Given the description of an element on the screen output the (x, y) to click on. 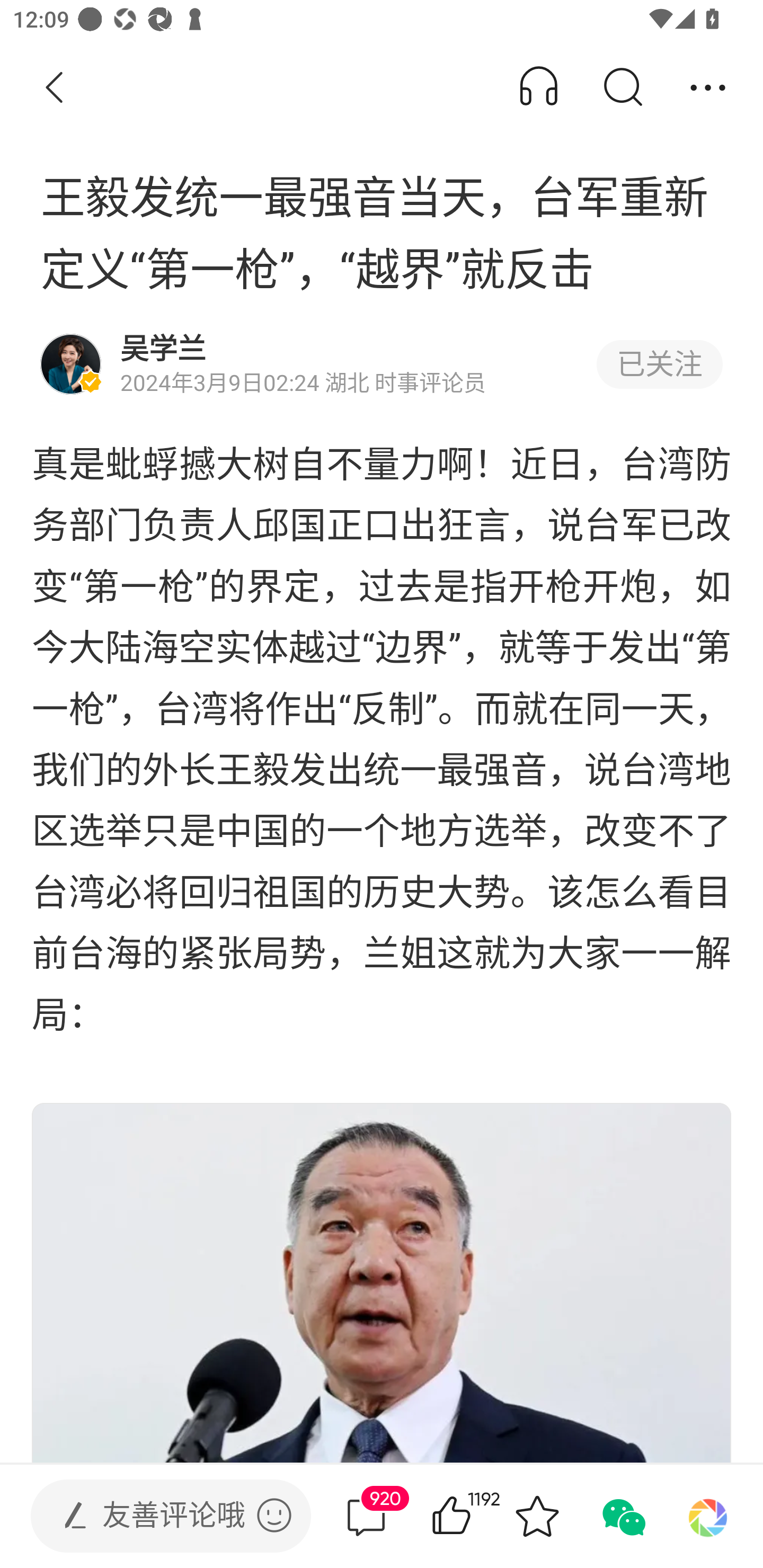
搜索  (622, 87)
分享  (707, 87)
 返回 (54, 87)
吴学兰 2024年3月9日02:24 湖北 时事评论员 已关注 (381, 364)
已关注 (659, 364)
新闻图片 (381, 1282)
发表评论  友善评论哦 发表评论  (155, 1516)
920评论  920 评论 (365, 1516)
1192赞 (476, 1516)
收藏  (536, 1516)
分享到微信  (622, 1516)
分享到朋友圈 (707, 1516)
 (274, 1515)
